Given the description of an element on the screen output the (x, y) to click on. 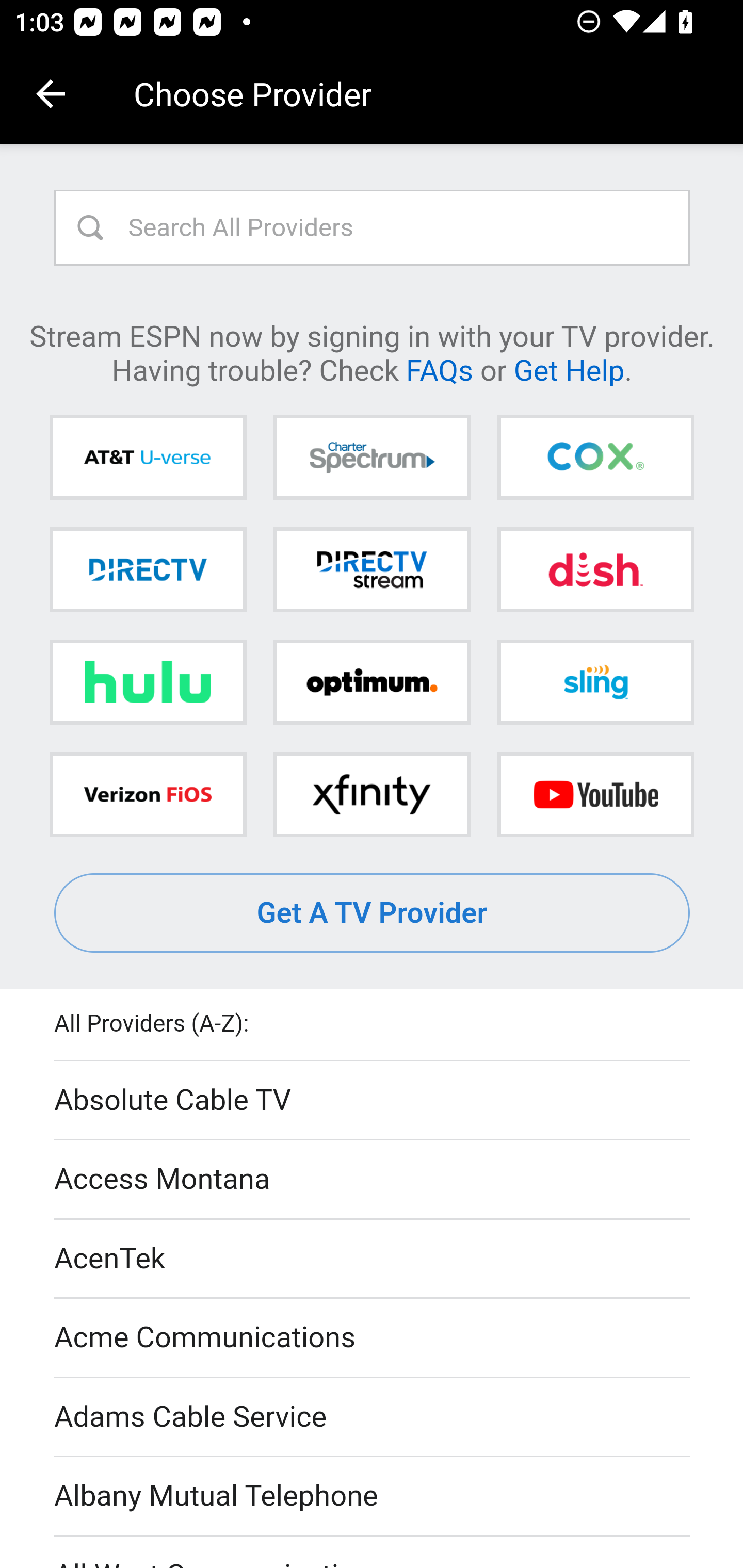
Navigate up (50, 93)
FAQs (438, 369)
Get Help (569, 369)
AT&T U-verse (147, 457)
Charter Spectrum (371, 457)
Cox (595, 457)
DIRECTV (147, 568)
DIRECTV STREAM (371, 568)
DISH (595, 568)
Hulu (147, 681)
Optimum (371, 681)
Sling TV (595, 681)
Verizon FiOS (147, 793)
Xfinity (371, 793)
YouTube TV (595, 793)
Get A TV Provider (372, 912)
Absolute Cable TV (372, 1100)
Access Montana (372, 1178)
AcenTek (372, 1258)
Acme Communications (372, 1338)
Adams Cable Service (372, 1417)
Albany Mutual Telephone (372, 1497)
